Given the description of an element on the screen output the (x, y) to click on. 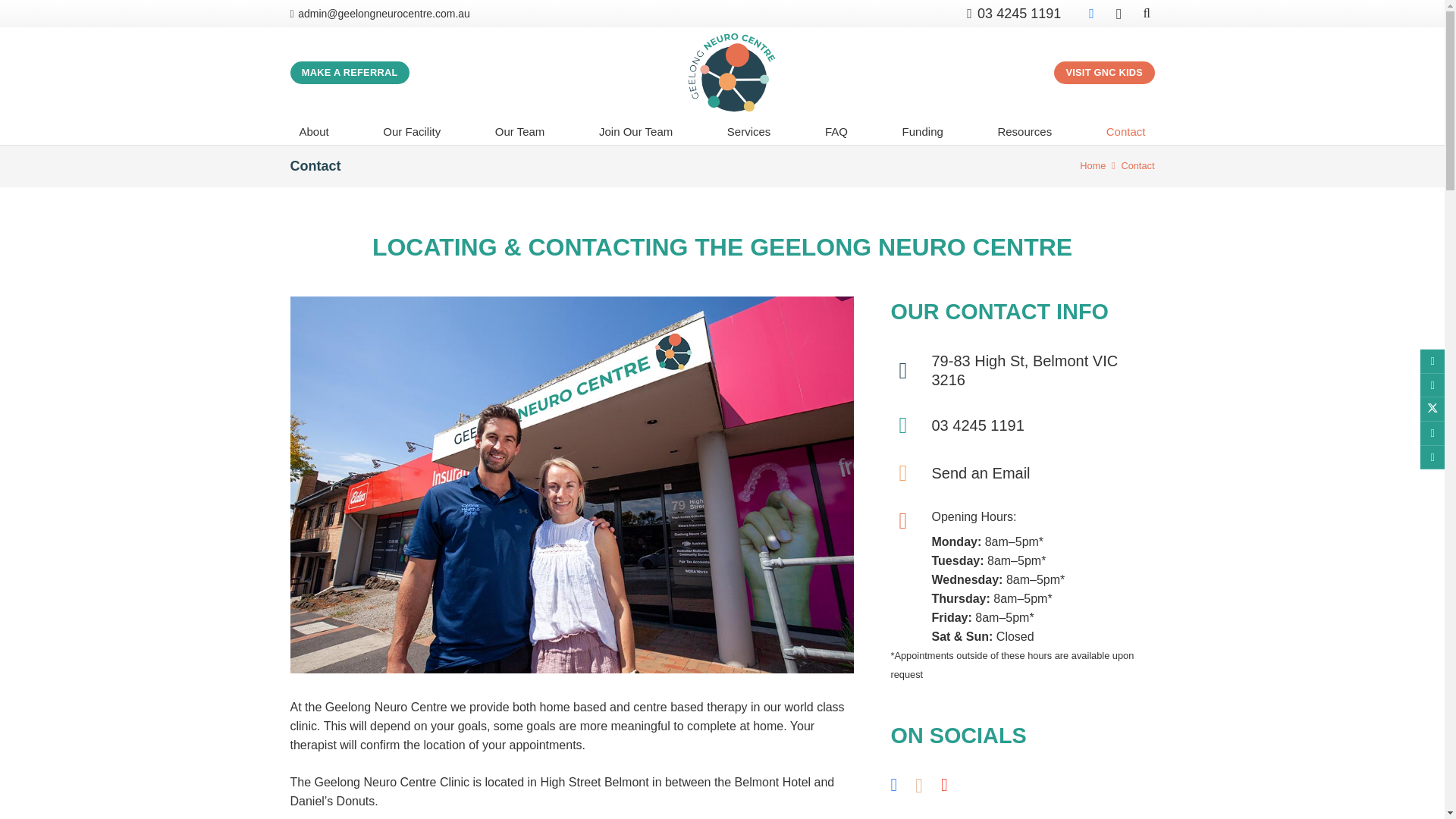
Contact (1125, 130)
About (313, 130)
VISIT GNC KIDS (1104, 73)
Contact (1137, 165)
Pin this (1432, 457)
Share this (1432, 385)
Tweet this (1432, 409)
03 4245 1191 (1013, 13)
Resources (1024, 130)
Email this (1432, 361)
